Given the description of an element on the screen output the (x, y) to click on. 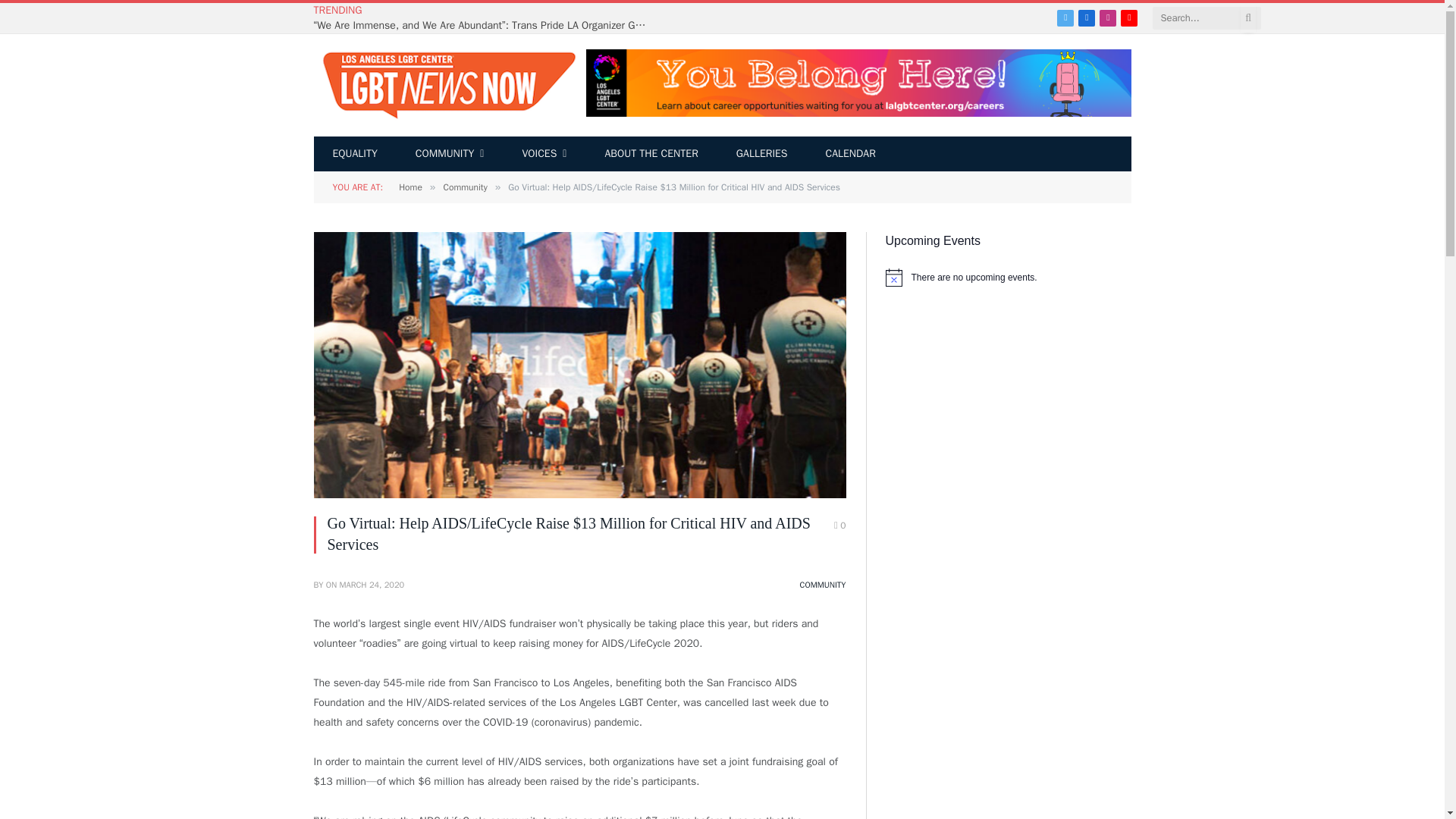
Twitter (1065, 17)
Instagram (1107, 17)
EQUALITY (355, 153)
VOICES (543, 153)
COMMUNITY (449, 153)
YouTube (1129, 17)
2020-03-24 (371, 584)
Facebook (1086, 17)
LGBT News Now (446, 84)
